Given the description of an element on the screen output the (x, y) to click on. 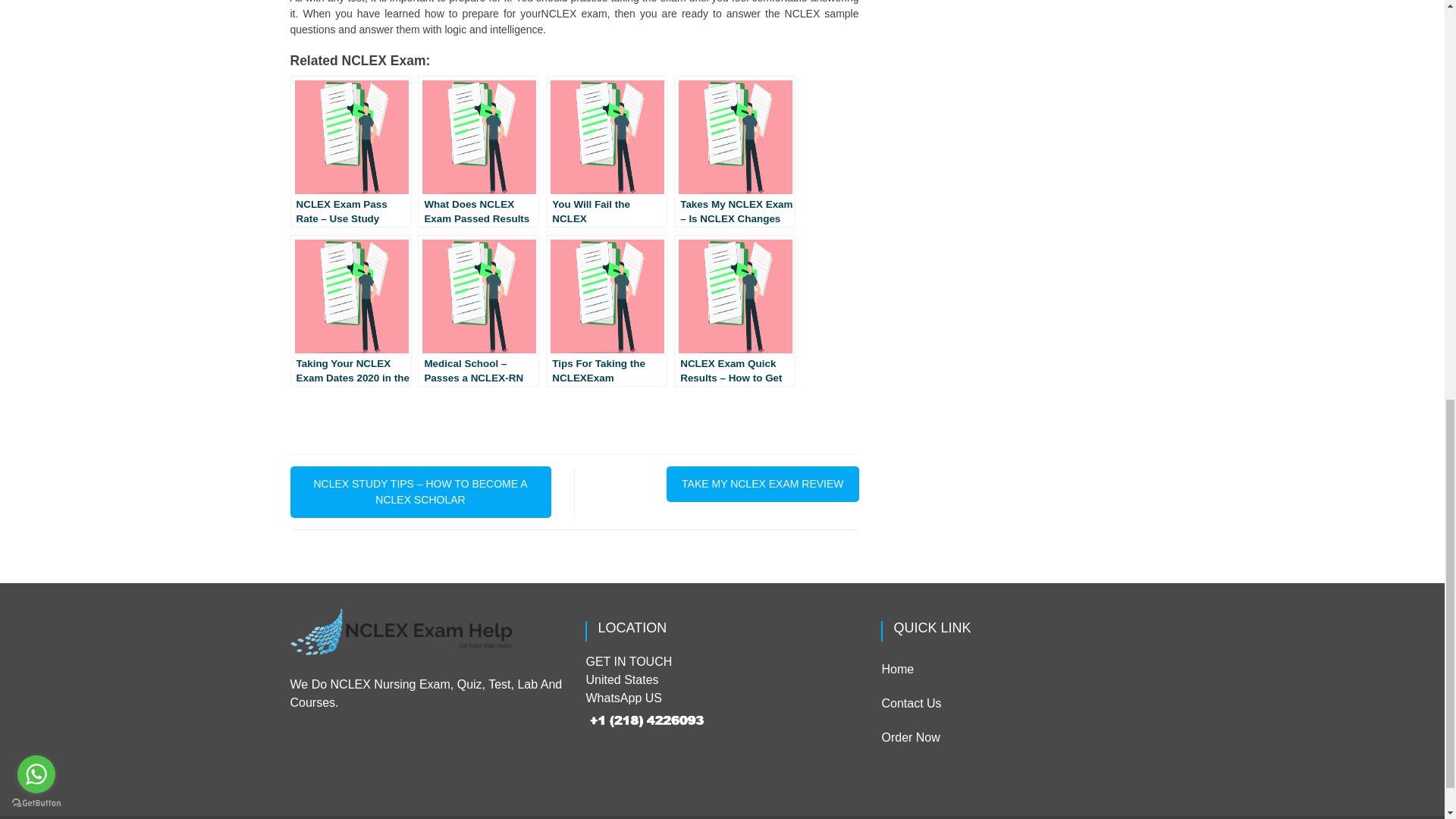
TAKE MY NCLEX EXAM REVIEW (762, 484)
Order Now (909, 737)
Home (897, 668)
Contact Us (910, 703)
